Given the description of an element on the screen output the (x, y) to click on. 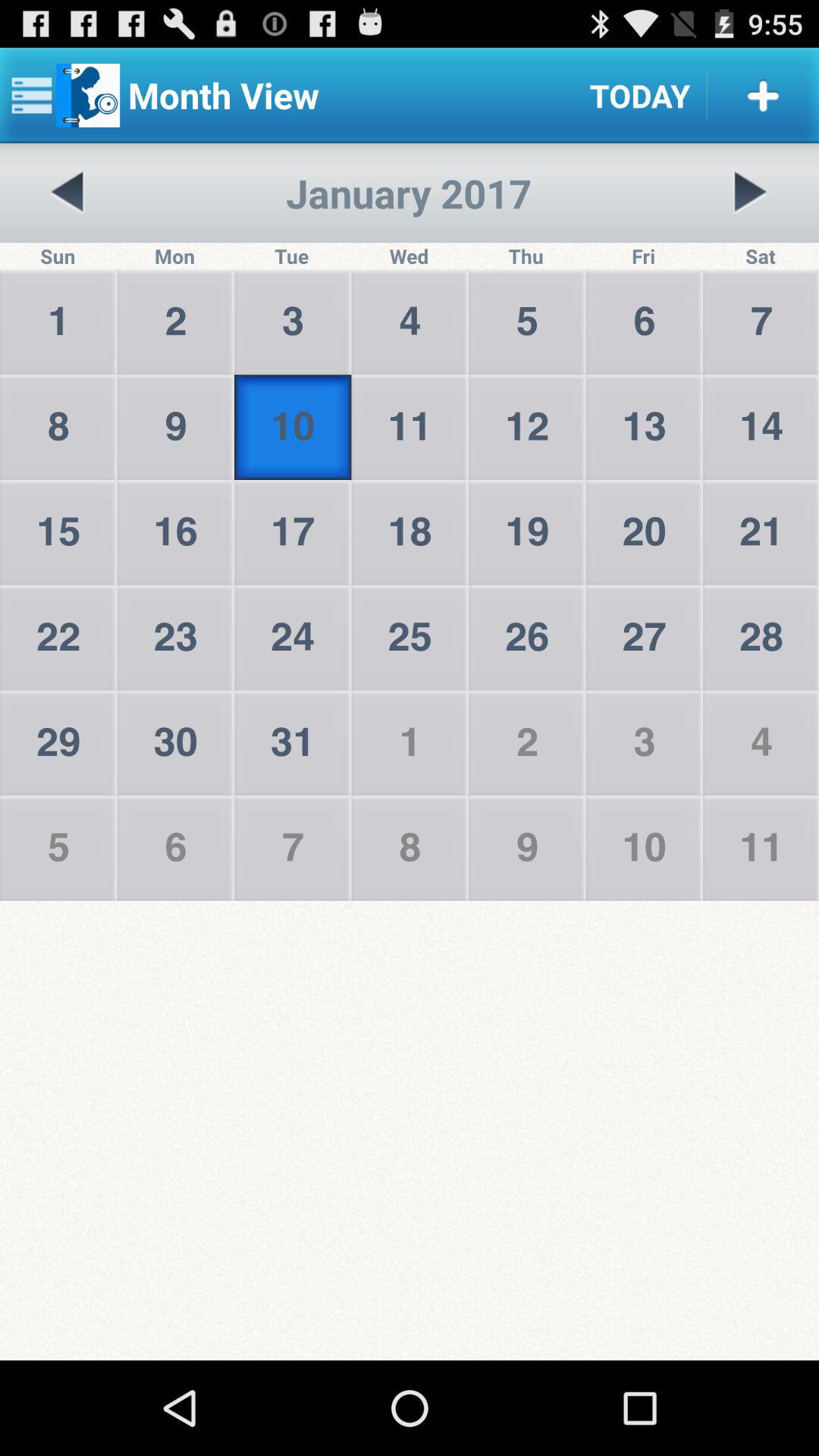
open the app next to month view app (639, 95)
